Given the description of an element on the screen output the (x, y) to click on. 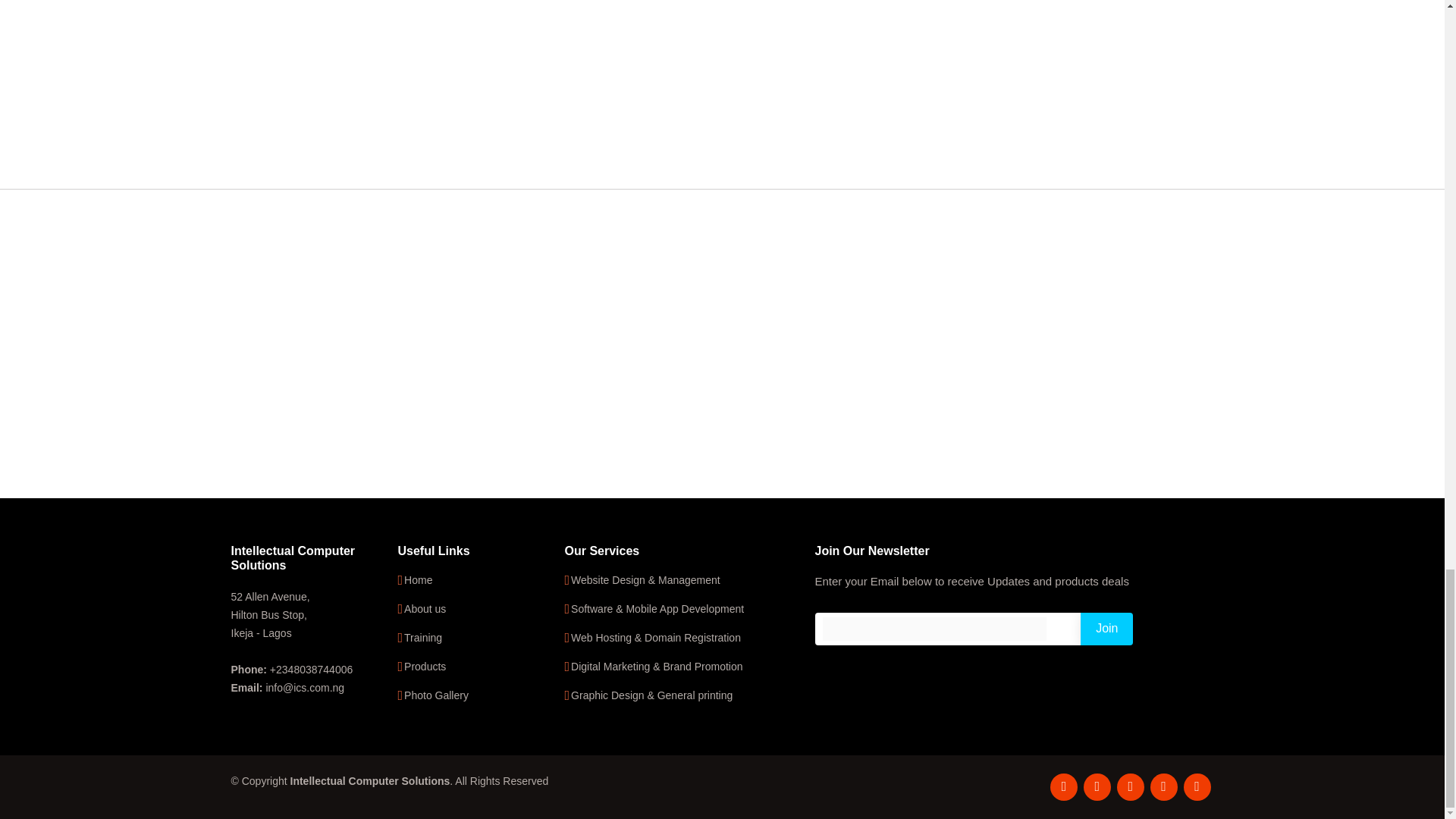
Join (1106, 628)
